Given the description of an element on the screen output the (x, y) to click on. 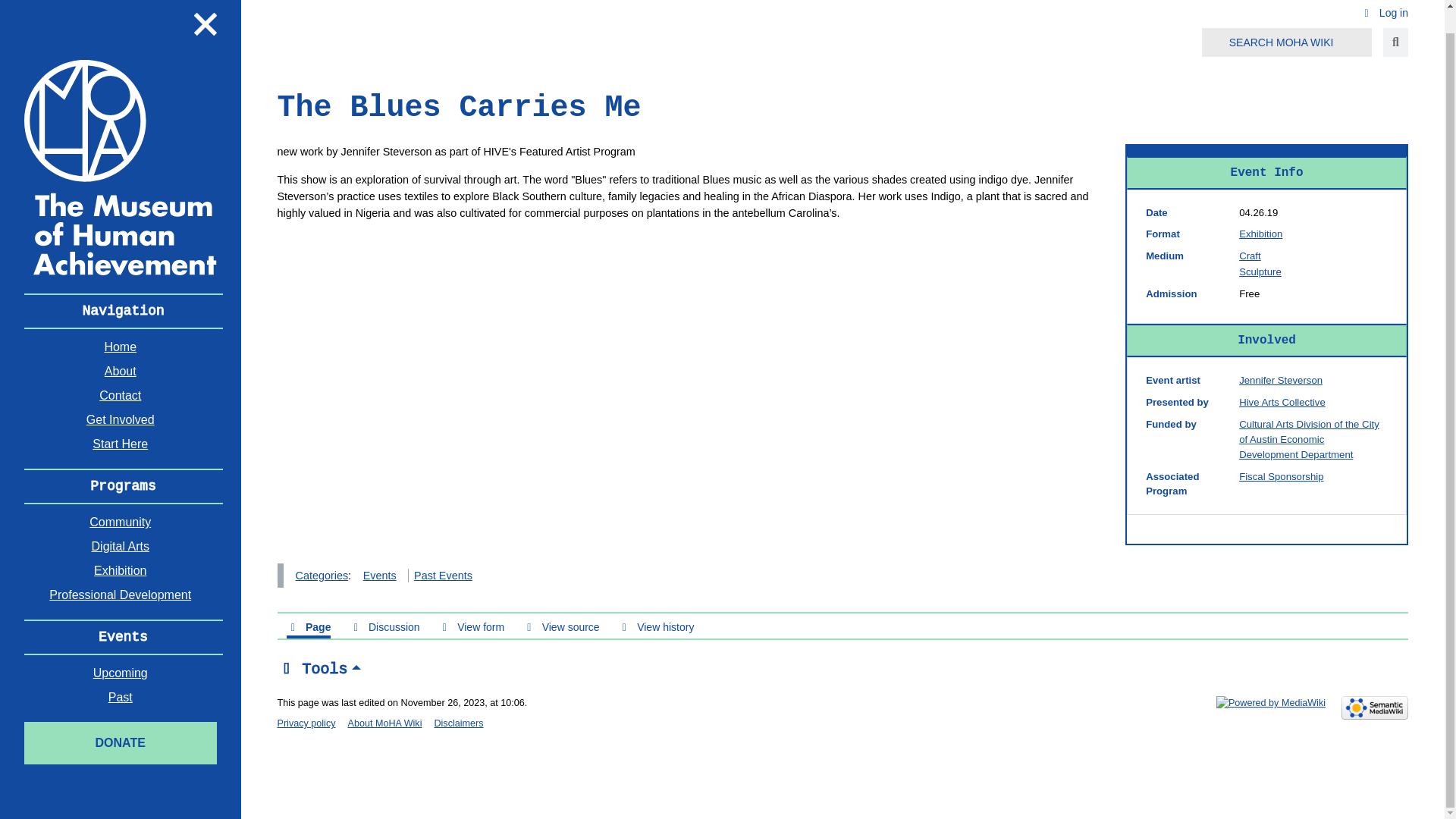
DONATE (120, 742)
Upcoming (120, 672)
About (120, 371)
Digital Arts (120, 546)
The Museum of Human Achievement (120, 166)
Exhibition (1260, 233)
Category:Events (379, 575)
Special:Categories (322, 575)
Programs (123, 486)
The Museum of Human Achievement (120, 167)
Home (120, 346)
Events (123, 637)
Community (120, 522)
Professional Development (120, 595)
Start Here (120, 444)
